Given the description of an element on the screen output the (x, y) to click on. 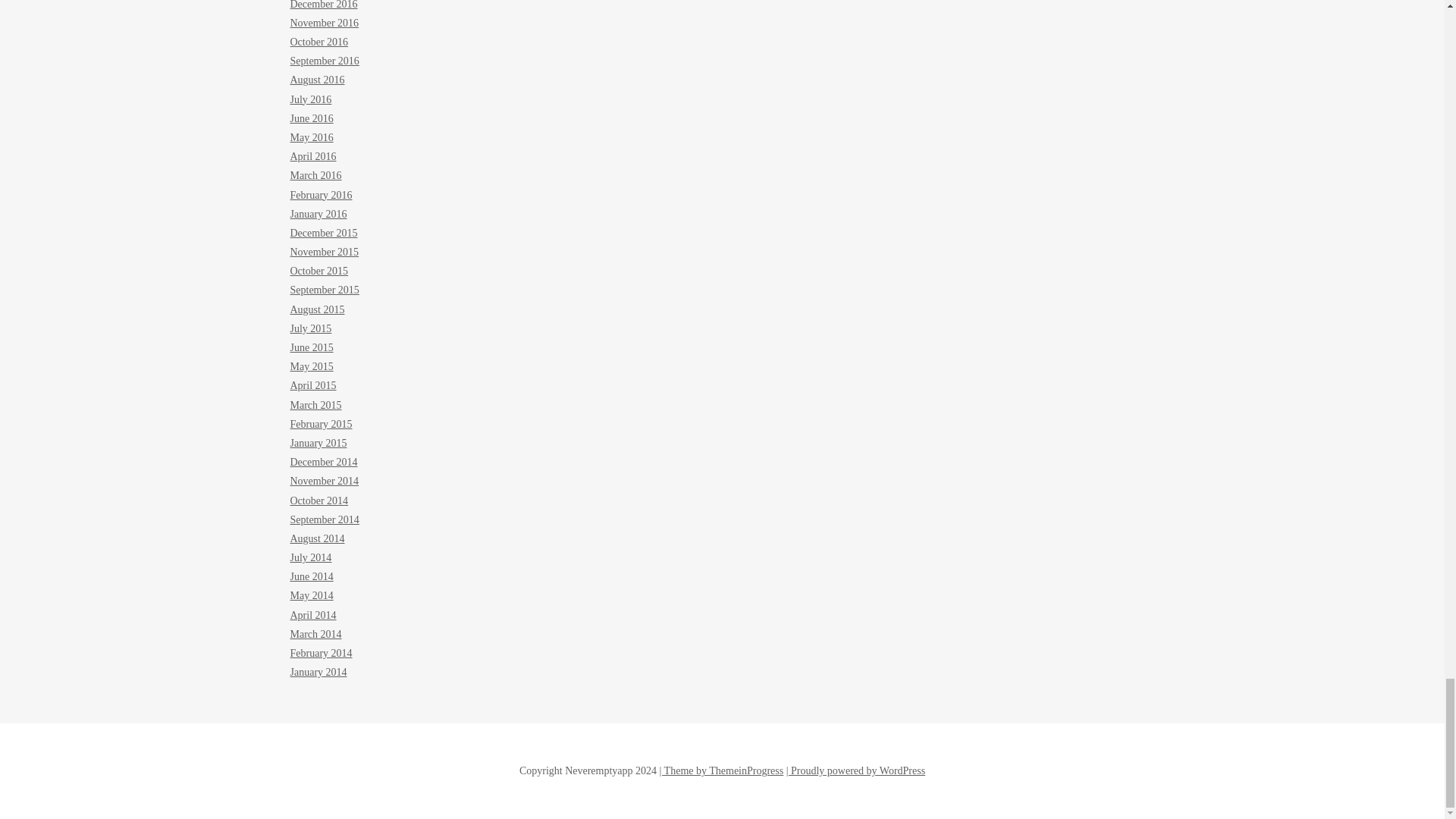
A Semantic Personal Publishing Platform (855, 770)
